Given the description of an element on the screen output the (x, y) to click on. 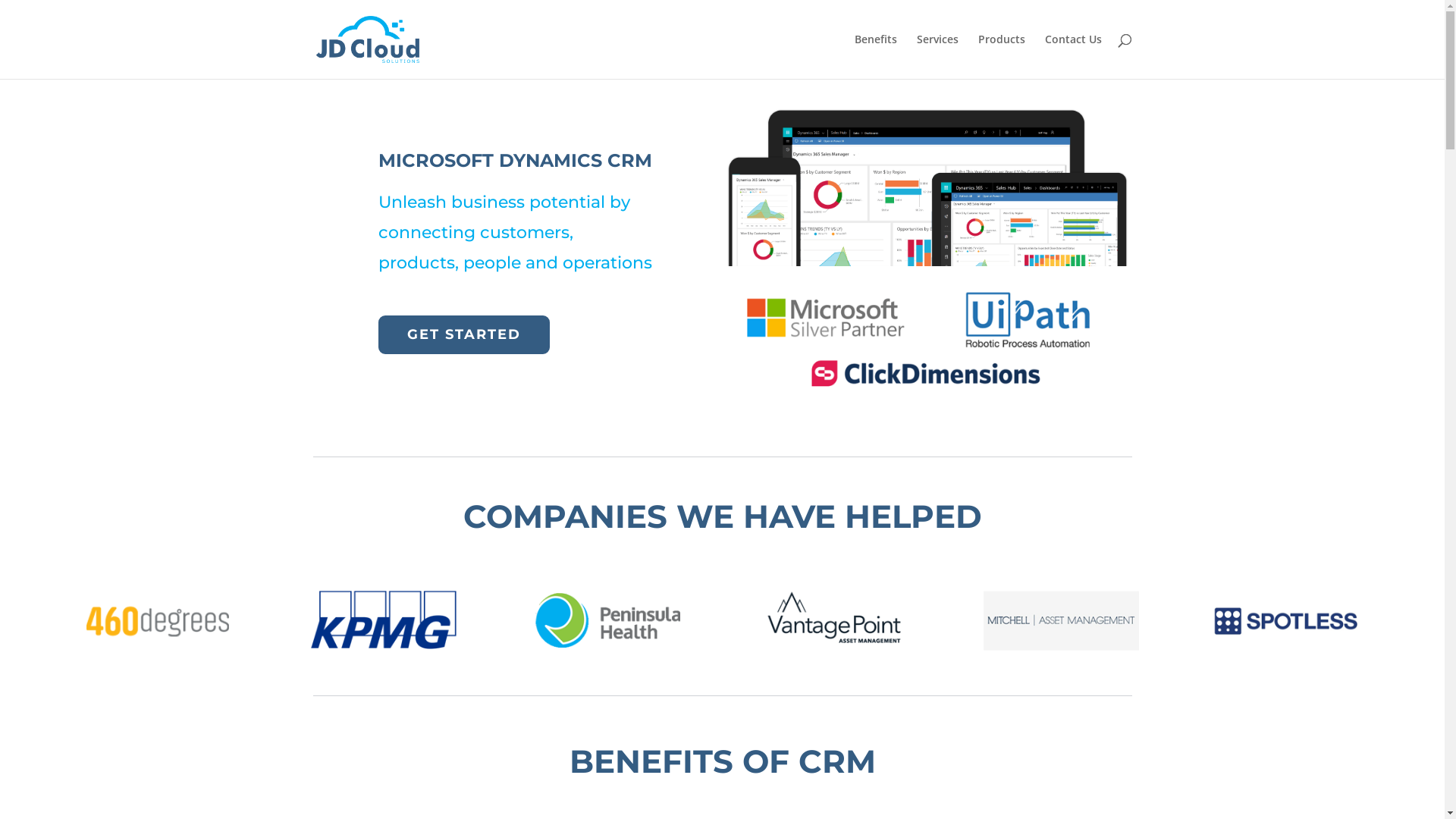
Products Element type: text (1001, 56)
Contact Us Element type: text (1072, 56)
Services Element type: text (936, 56)
Benefits Element type: text (874, 56)
GET STARTED Element type: text (463, 334)
